Given the description of an element on the screen output the (x, y) to click on. 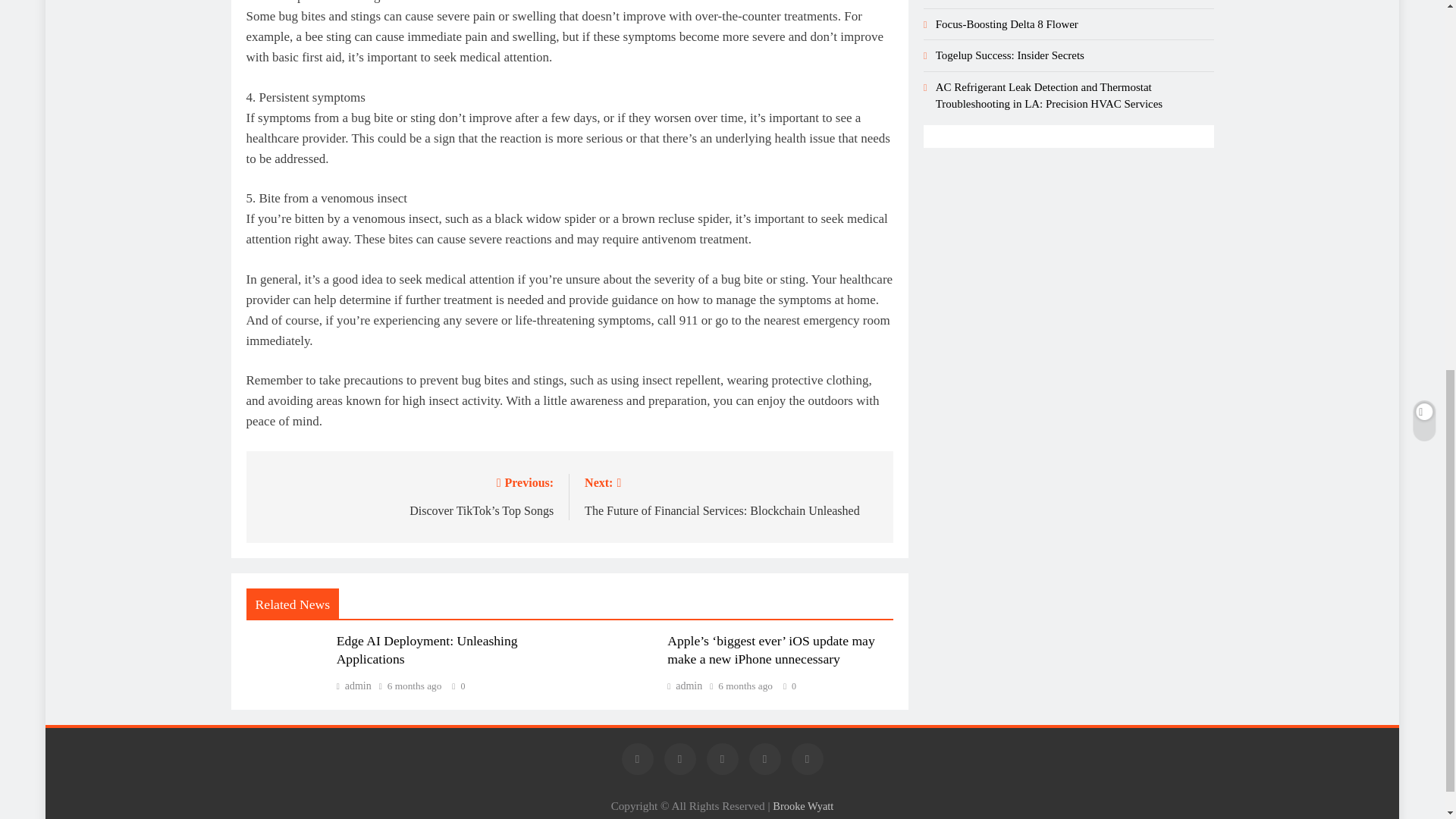
admin (353, 685)
Edge AI Deployment: Unleashing Applications (427, 649)
6 months ago (745, 685)
6 months ago (731, 495)
admin (414, 685)
